Given the description of an element on the screen output the (x, y) to click on. 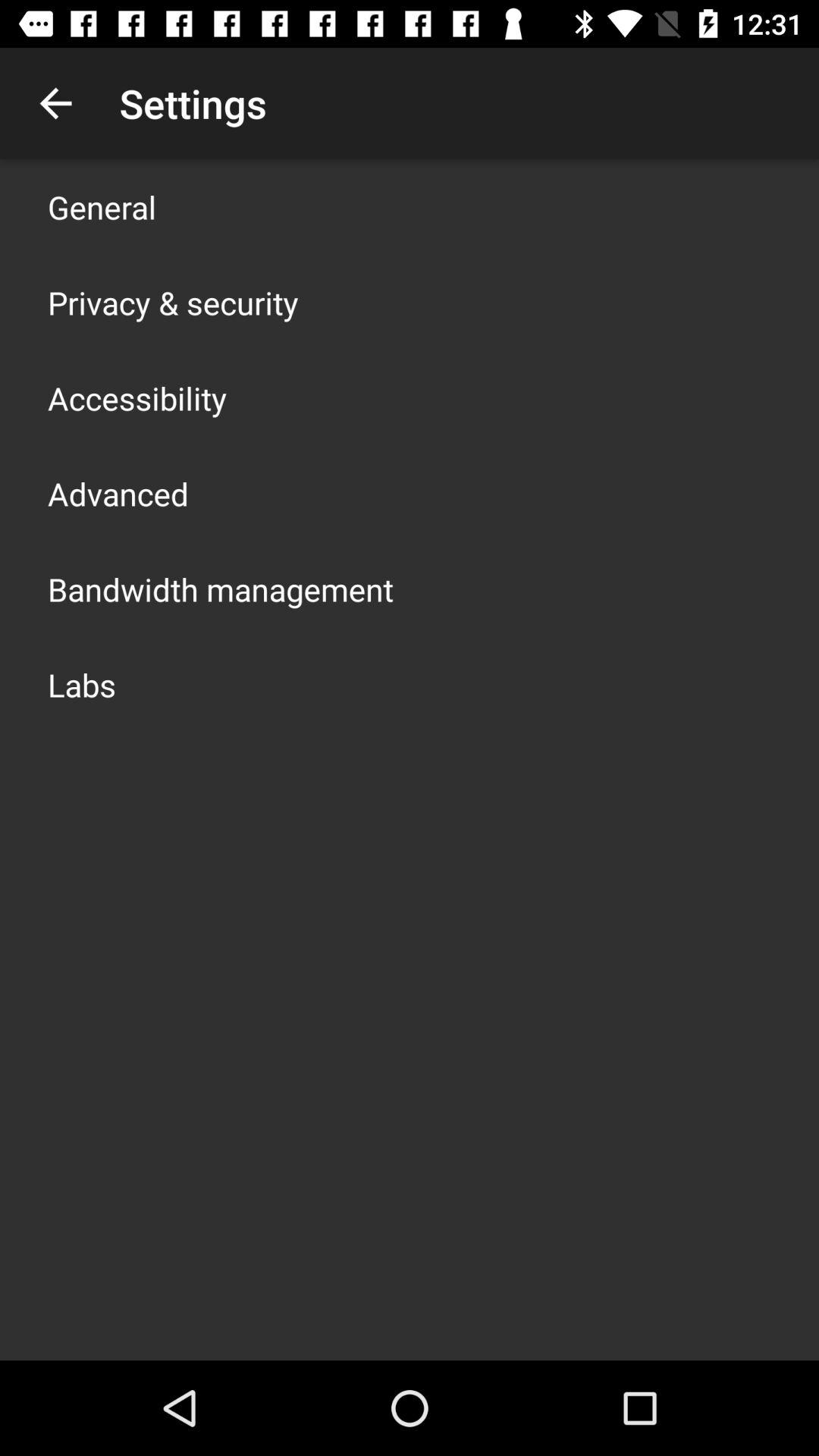
select the item above the general icon (55, 103)
